Given the description of an element on the screen output the (x, y) to click on. 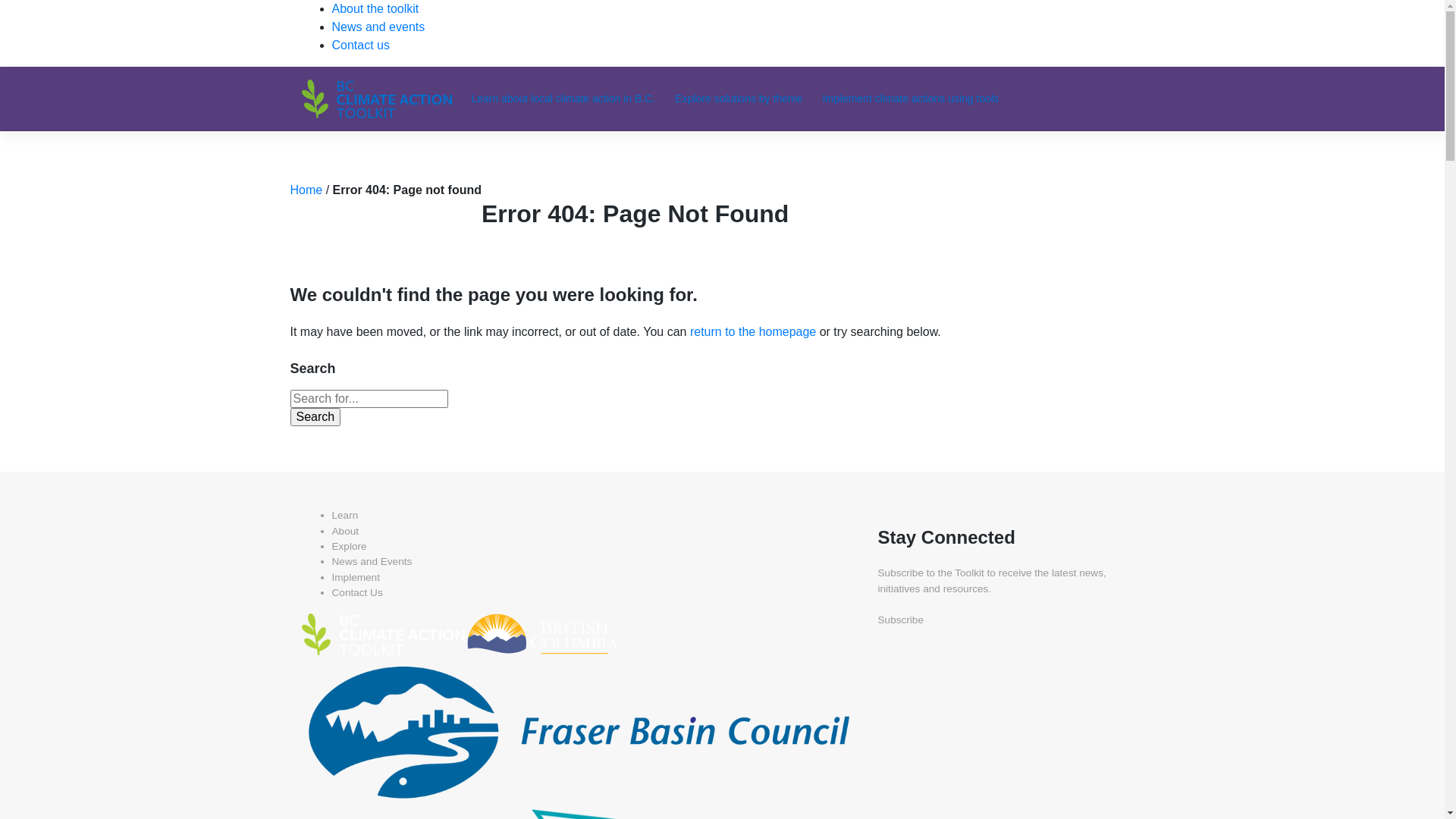
About the toolkit Element type: text (375, 8)
Learn about local climate action in B.C. Element type: text (566, 98)
Subscribe Element type: text (900, 619)
Learn Element type: text (345, 514)
Implement Element type: text (355, 577)
Home Element type: text (305, 189)
Implement climate actions using tools Element type: text (912, 98)
Explore Element type: text (349, 546)
return to the homepage Element type: text (752, 331)
News and events Element type: text (378, 26)
Contact us Element type: text (360, 44)
About Element type: text (345, 530)
Explore solutions by theme Element type: text (740, 98)
Search Element type: text (314, 416)
Contact Us Element type: text (357, 592)
News and Events Element type: text (372, 561)
